Given the description of an element on the screen output the (x, y) to click on. 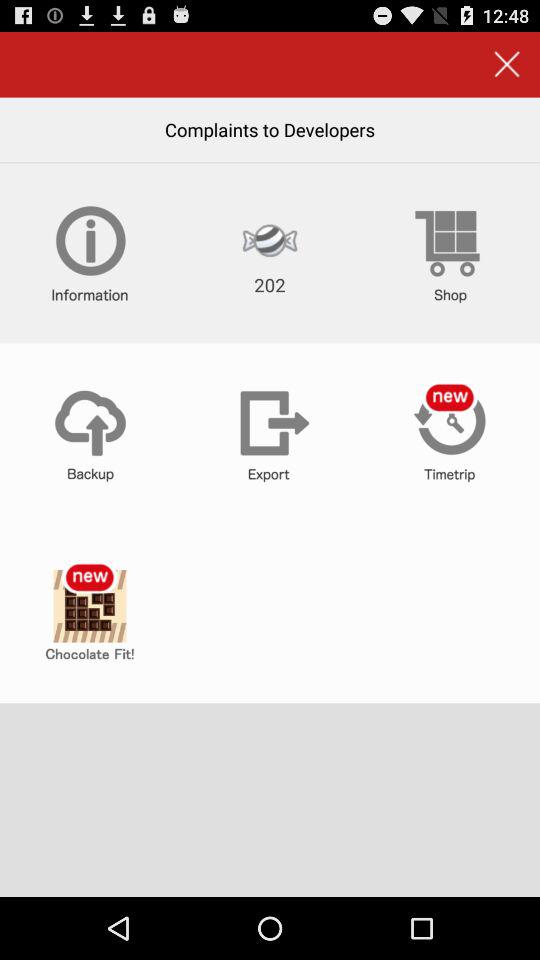
select timetrip (450, 433)
